Given the description of an element on the screen output the (x, y) to click on. 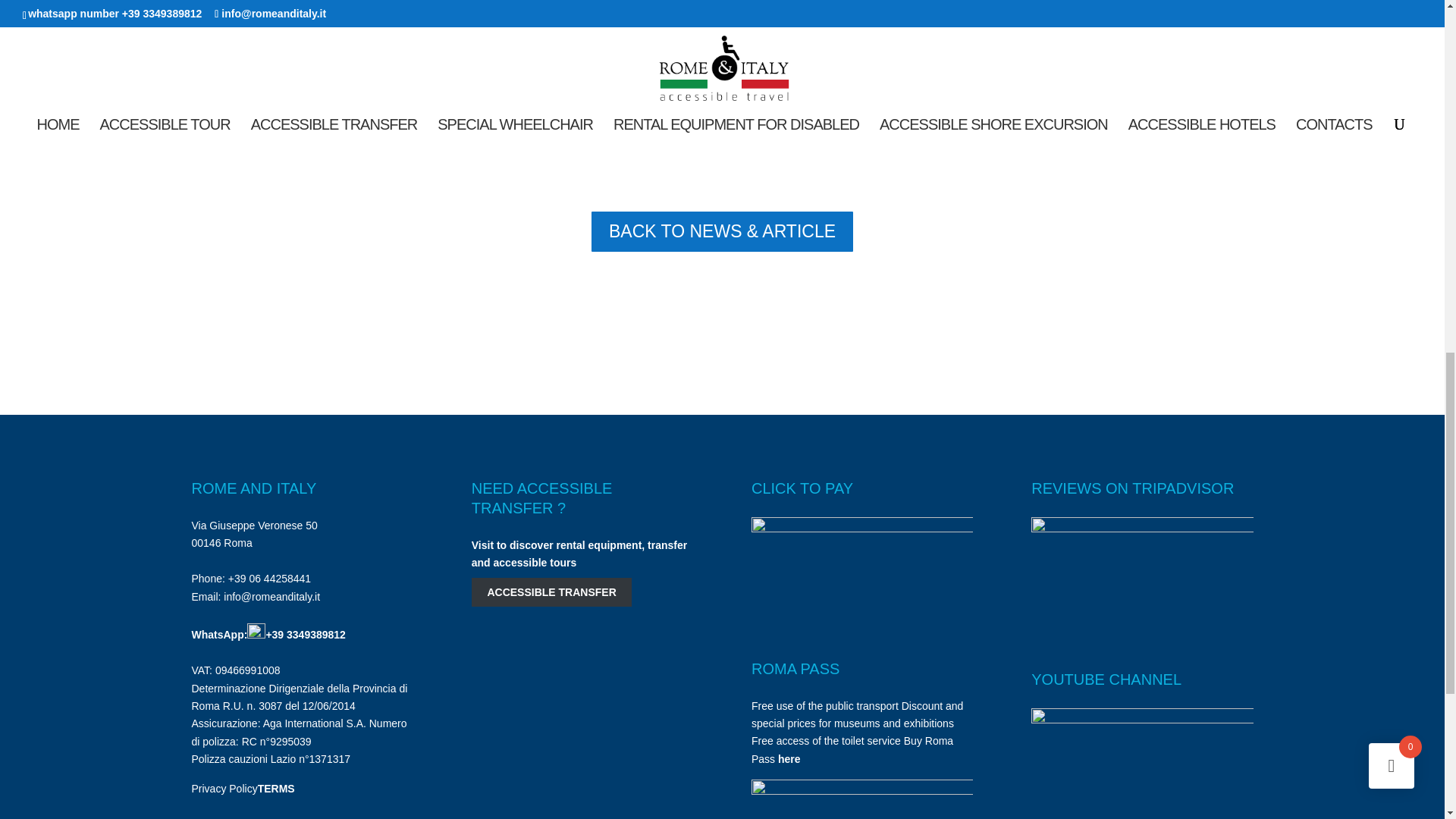
here (788, 758)
WhatsApp: (227, 634)
ACCESSIBLE TRANSFER (551, 592)
TERMS (276, 788)
